Given the description of an element on the screen output the (x, y) to click on. 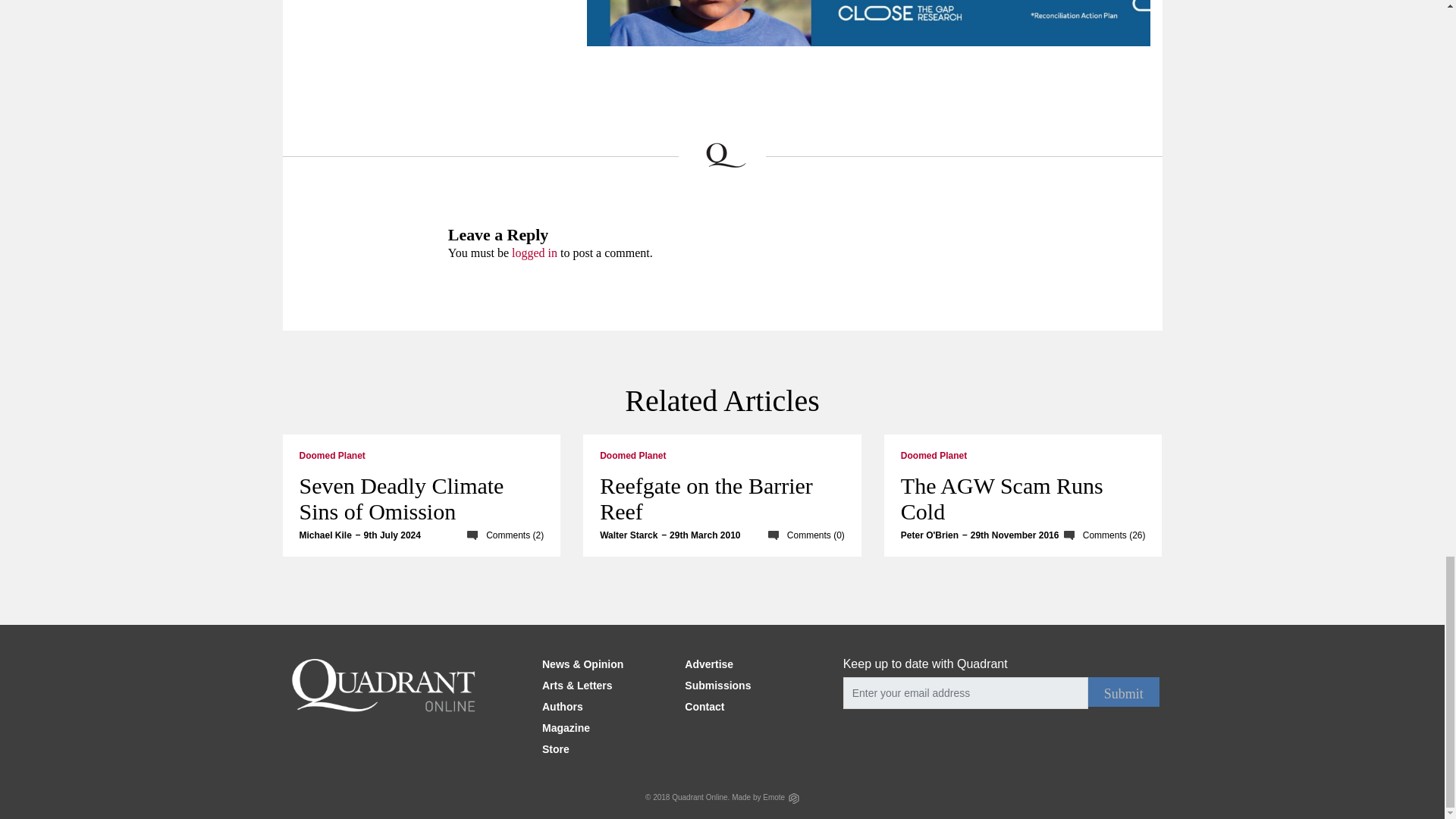
Submit (1122, 691)
